Given the description of an element on the screen output the (x, y) to click on. 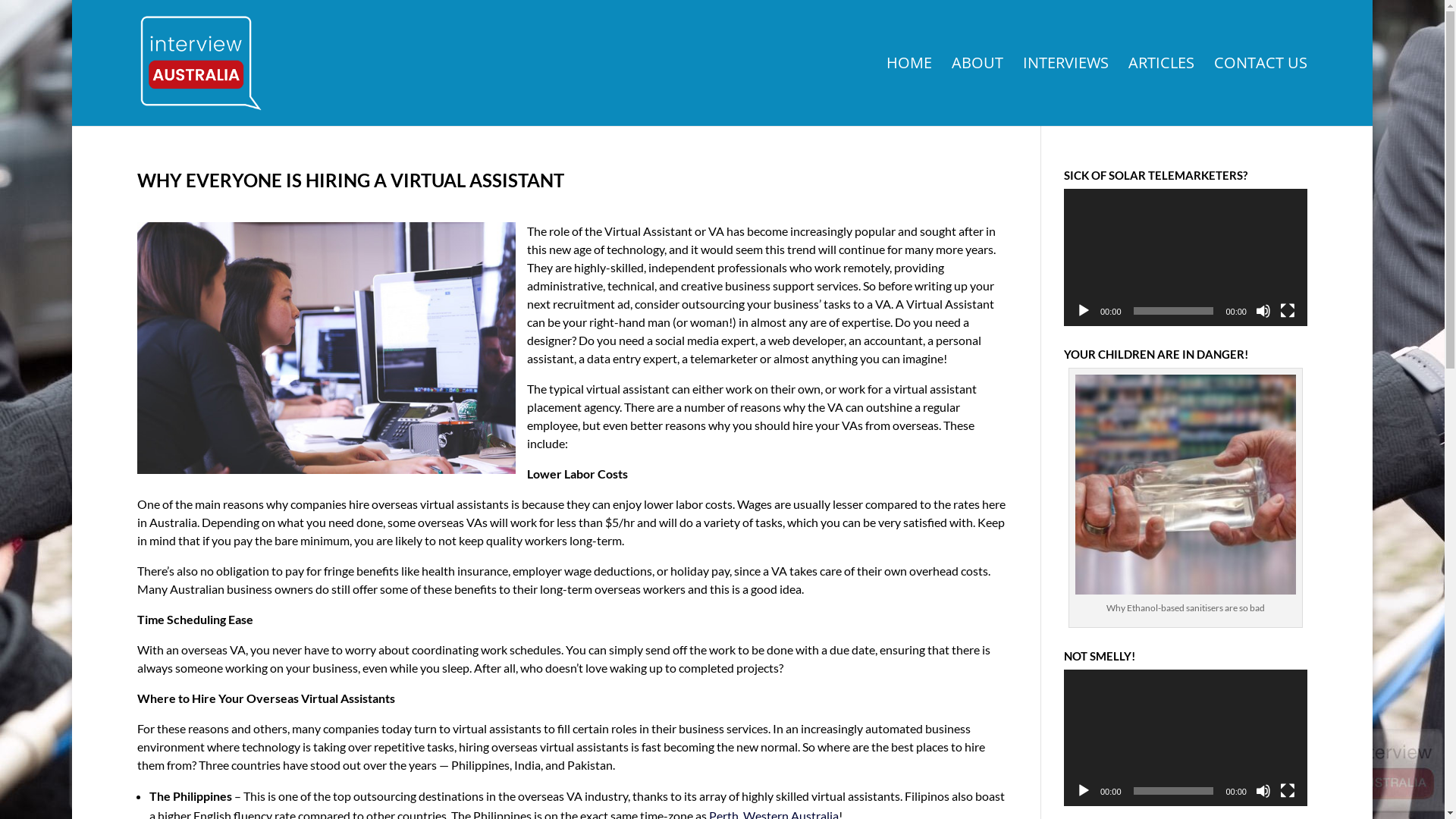
CONTACT US Element type: text (1260, 91)
INTERVIEWS Element type: text (1065, 91)
ARTICLES Element type: text (1161, 91)
Mute Element type: hover (1262, 310)
Play Element type: hover (1083, 310)
Fullscreen Element type: hover (1287, 310)
Fullscreen Element type: hover (1287, 790)
ABOUT Element type: text (977, 91)
Mute Element type: hover (1262, 790)
Play Element type: hover (1083, 790)
HOME Element type: text (908, 91)
Why Ethanol-based sanitisers are so bad Element type: text (1185, 607)
